Given the description of an element on the screen output the (x, y) to click on. 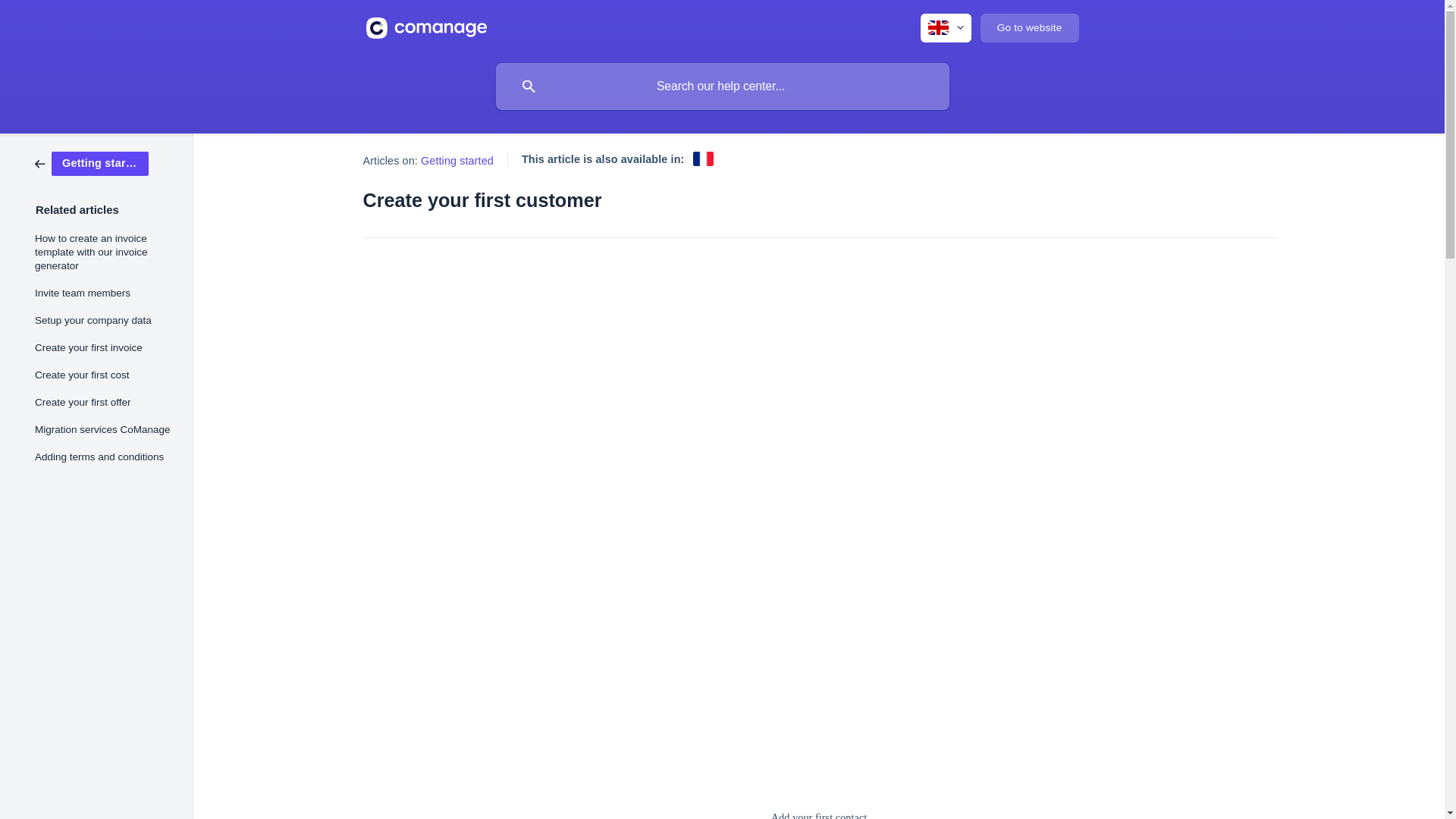
Getting started (91, 162)
Create your first cost (102, 375)
Getting started (456, 160)
Go to website (1028, 27)
Create your first invoice (102, 347)
How to create an invoice template with our invoice generator (102, 252)
Adding terms and conditions (102, 456)
Invite team members (102, 293)
Create your first offer (102, 402)
Setup your company data (102, 320)
